Given the description of an element on the screen output the (x, y) to click on. 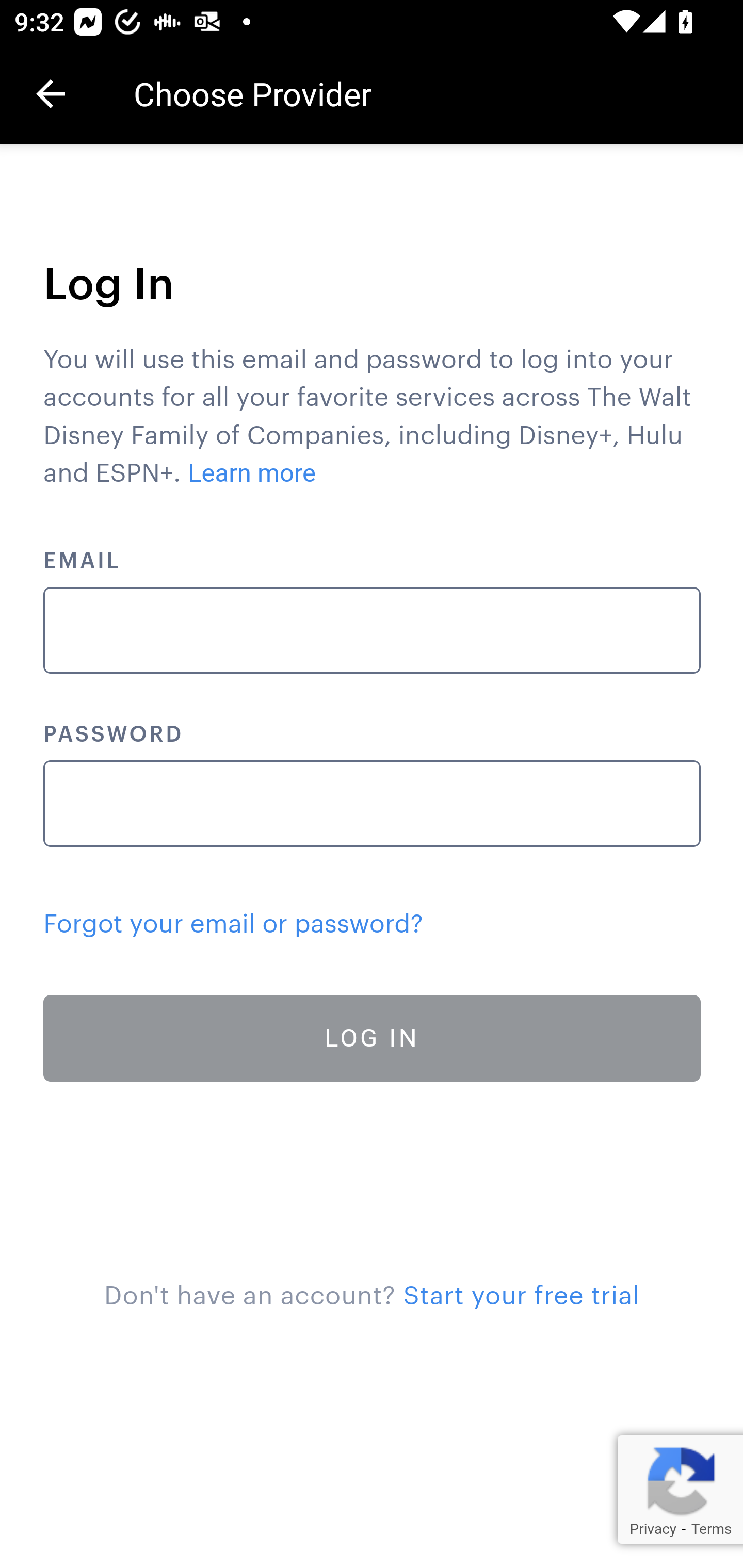
Navigate up (50, 93)
Learn more (252, 473)
Forgot your email or password? (233, 924)
LOG IN (372, 1037)
Start your free trial (521, 1295)
Privacy (652, 1528)
Terms (711, 1528)
